Given the description of an element on the screen output the (x, y) to click on. 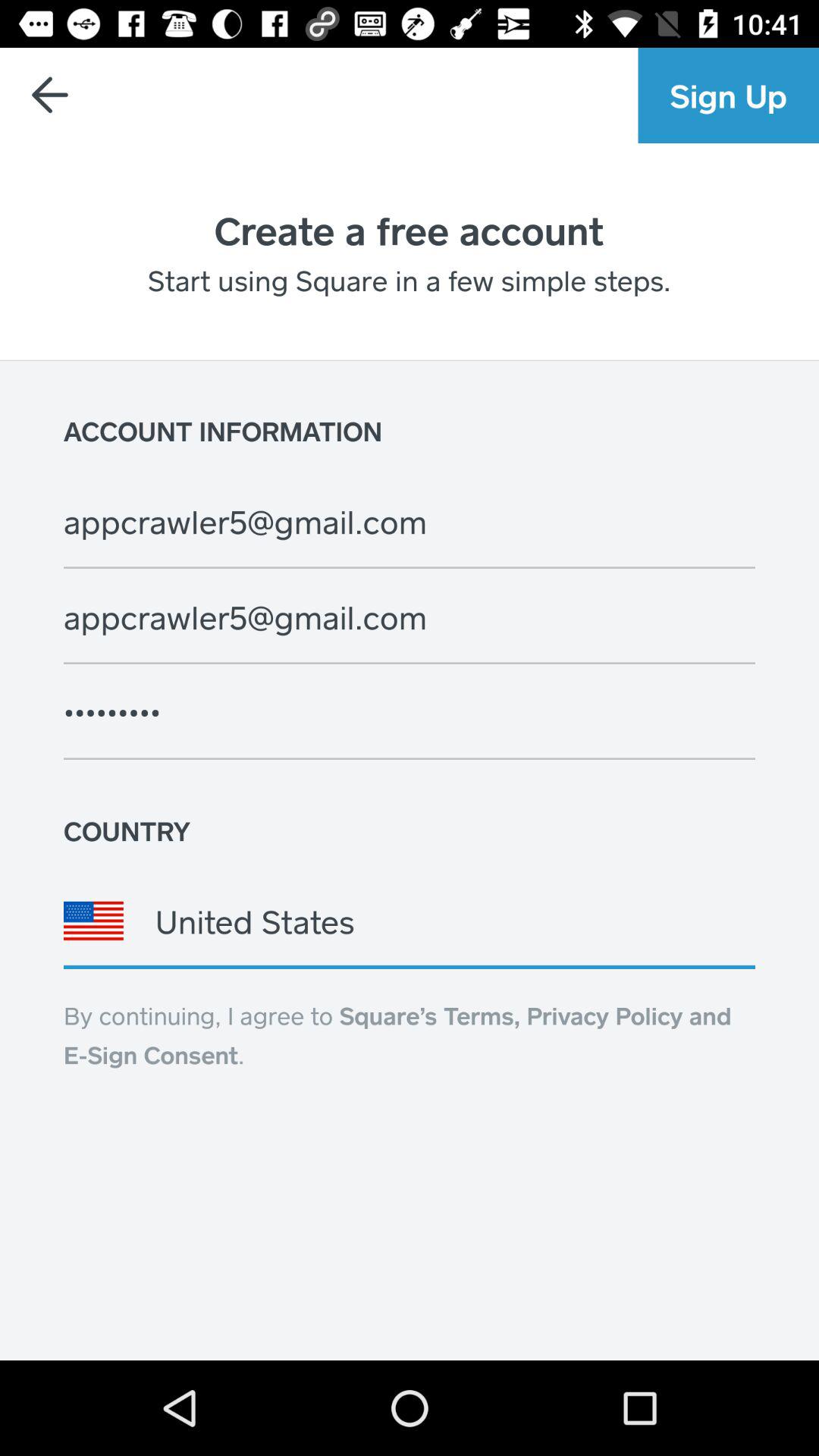
click item above country (409, 712)
